Given the description of an element on the screen output the (x, y) to click on. 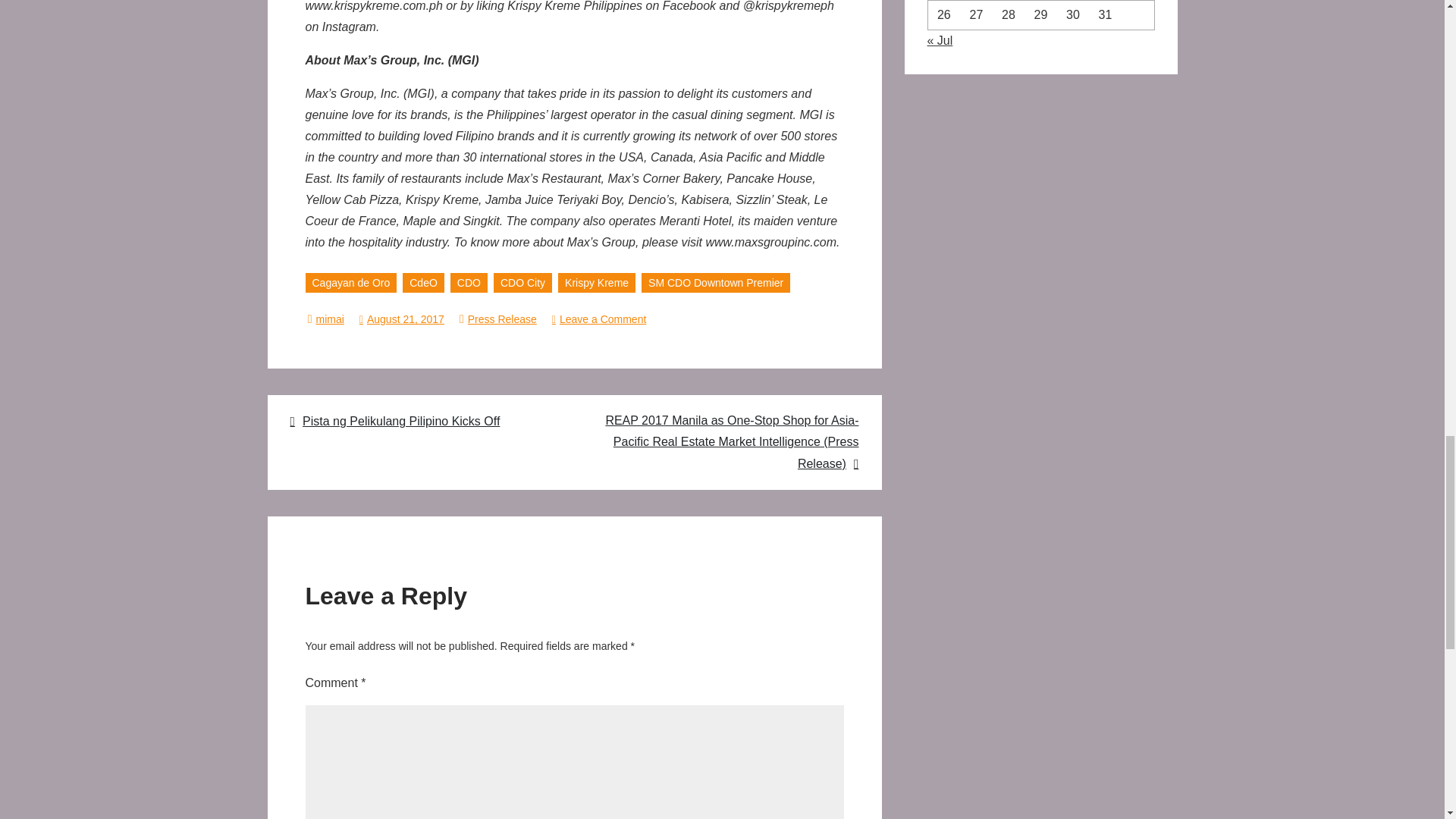
CDO City (522, 282)
August 21, 2017 (401, 318)
Pista ng Pelikulang Pilipino Kicks Off (421, 421)
CDO (468, 282)
mimai (329, 318)
SM CDO Downtown Premier (716, 282)
Krispy Kreme (595, 282)
Cagayan de Oro (350, 282)
Press Release (502, 318)
CdeO (423, 282)
